Given the description of an element on the screen output the (x, y) to click on. 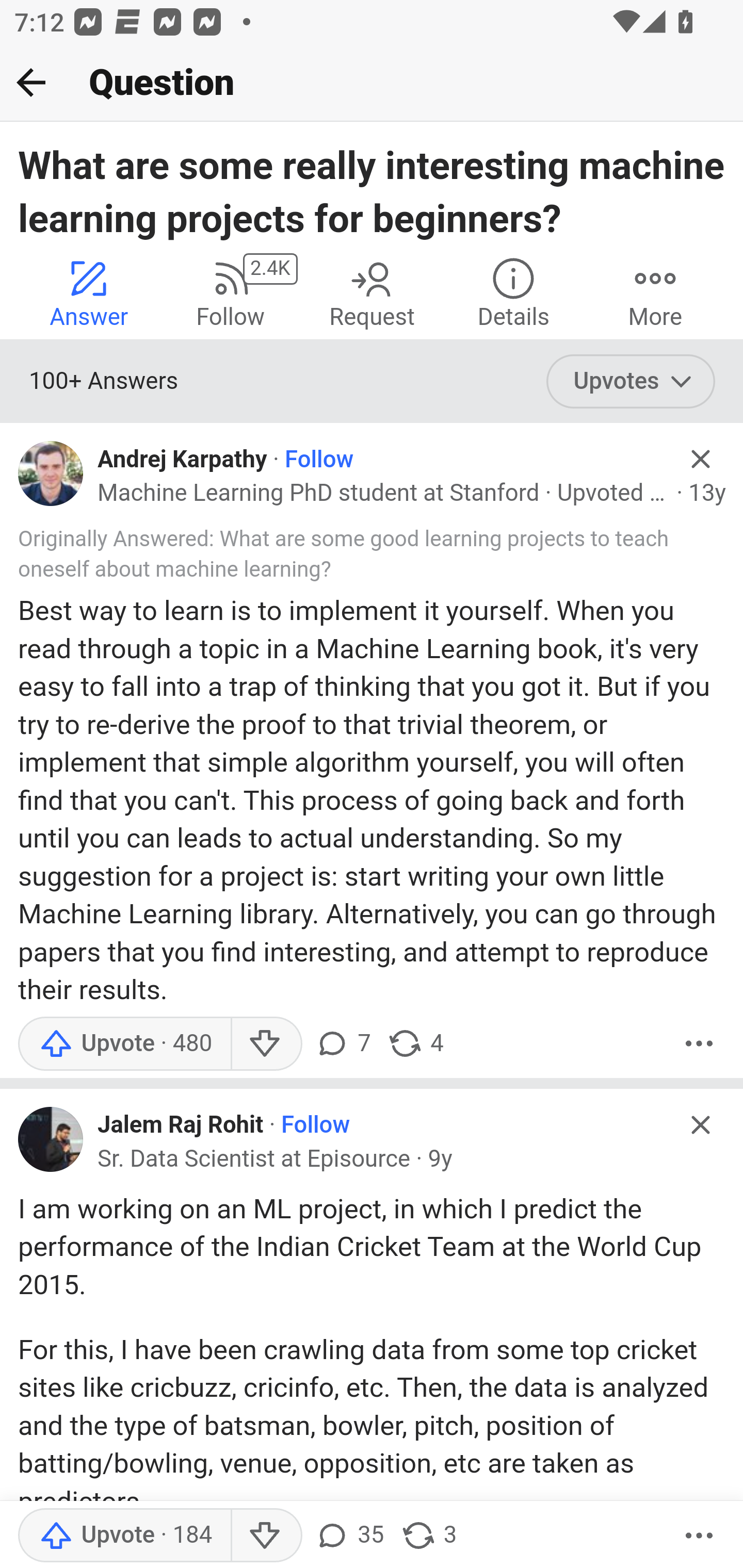
Back Question (371, 82)
Back (30, 82)
Answer (88, 292)
2.4K Follow (230, 292)
Request (371, 292)
Details (513, 292)
More (655, 292)
Upvotes (630, 381)
Hide (700, 459)
Profile photo for Andrej Karpathy (50, 473)
Andrej Karpathy (182, 459)
Follow (319, 459)
13y 13 y (707, 493)
Upvote (124, 1042)
Downvote (266, 1042)
7 comments (342, 1042)
4 shares (414, 1042)
More (699, 1042)
Hide (700, 1123)
Profile photo for Jalem Raj Rohit (50, 1138)
Jalem Raj Rohit (180, 1125)
Follow (315, 1125)
9y 9 y (439, 1158)
Upvote (124, 1535)
Downvote (266, 1535)
35 comments (349, 1535)
3 shares (428, 1535)
More (699, 1535)
